Given the description of an element on the screen output the (x, y) to click on. 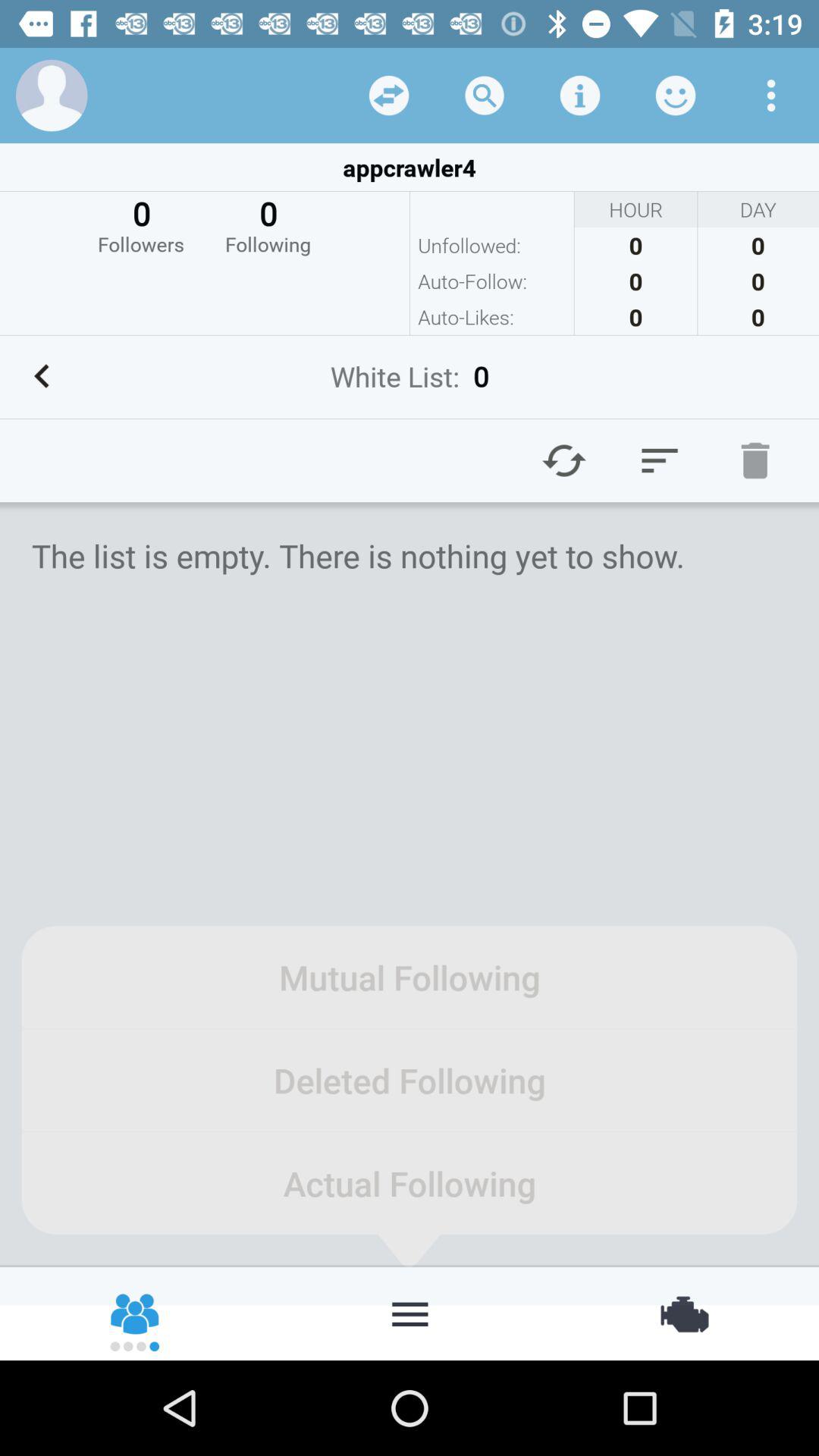
delete items (755, 460)
